Given the description of an element on the screen output the (x, y) to click on. 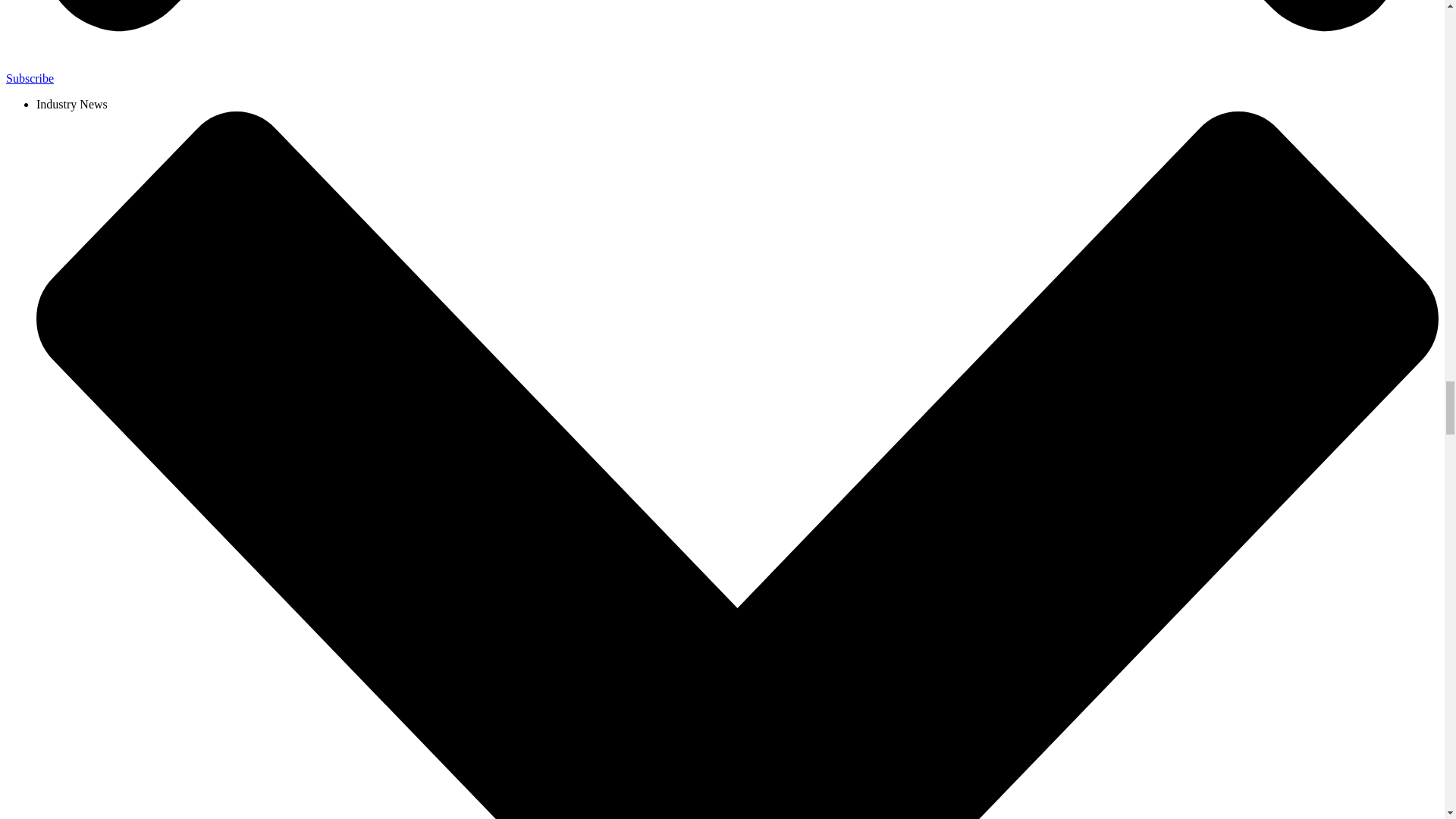
Subscribe (29, 78)
Industry News (71, 103)
